Given the description of an element on the screen output the (x, y) to click on. 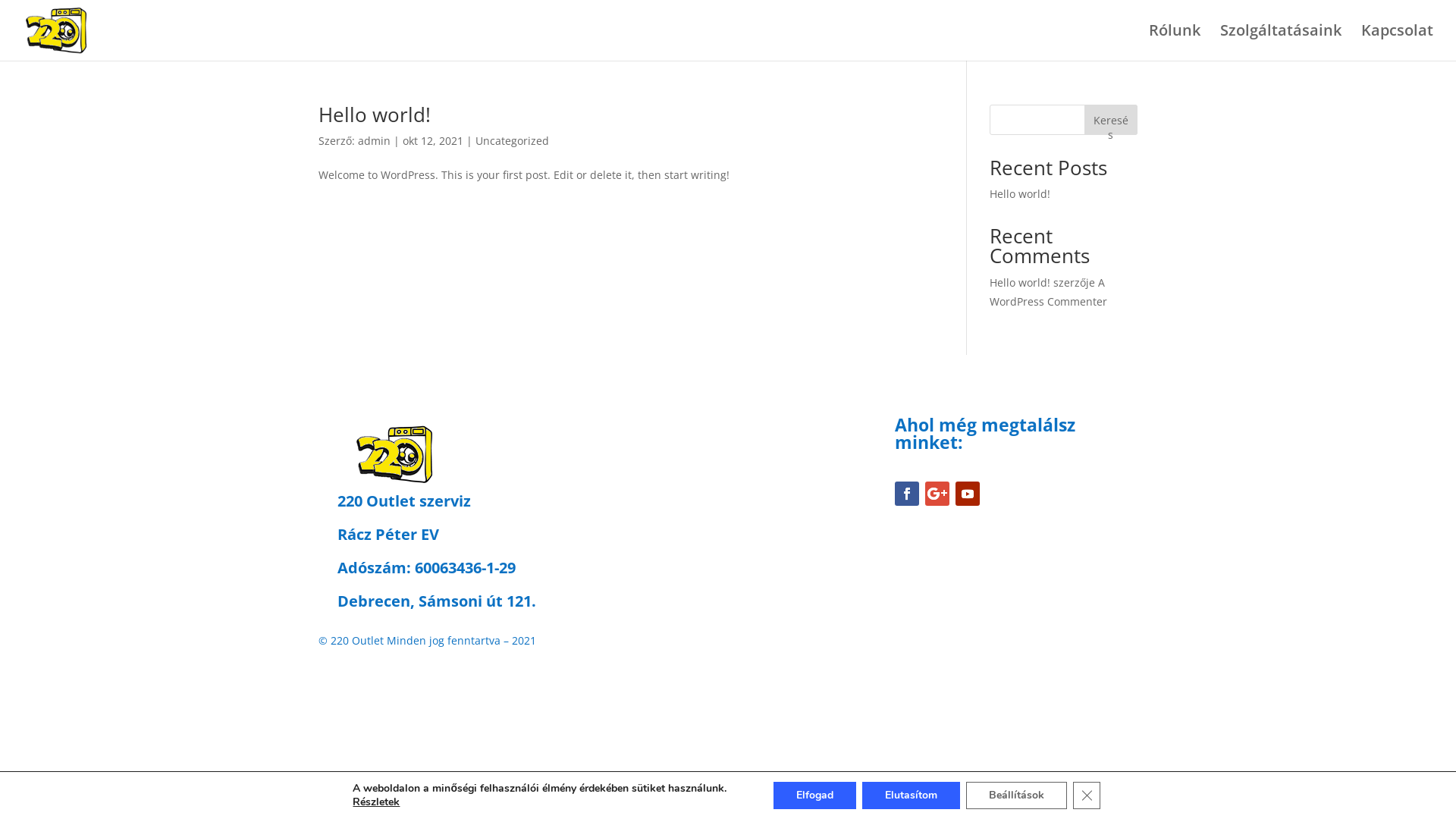
Elfogad Element type: text (814, 795)
Uncategorized Element type: text (512, 140)
Close GDPR Cookie Banner Element type: text (1086, 795)
Szerviz (200 x 200 px) (5) Element type: hover (394, 454)
A WordPress Commenter Element type: text (1048, 291)
Hello world! Element type: text (374, 114)
Kapcsolat Element type: text (1397, 42)
Hello world! Element type: text (1019, 193)
admin Element type: text (373, 140)
Hello world! Element type: text (1019, 282)
